Given the description of an element on the screen output the (x, y) to click on. 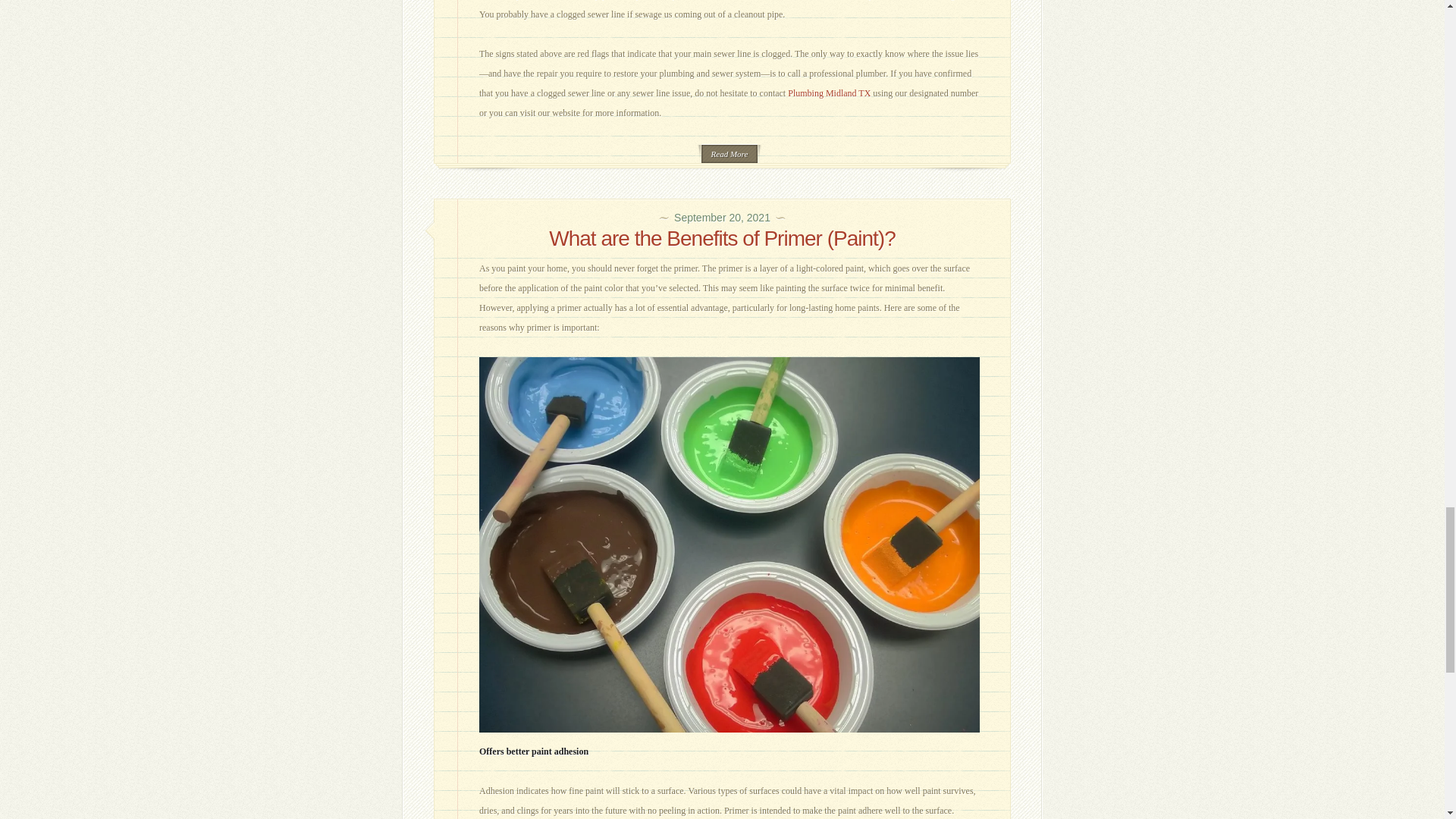
Read More (729, 153)
Plumbing Midland TX (828, 92)
